Given the description of an element on the screen output the (x, y) to click on. 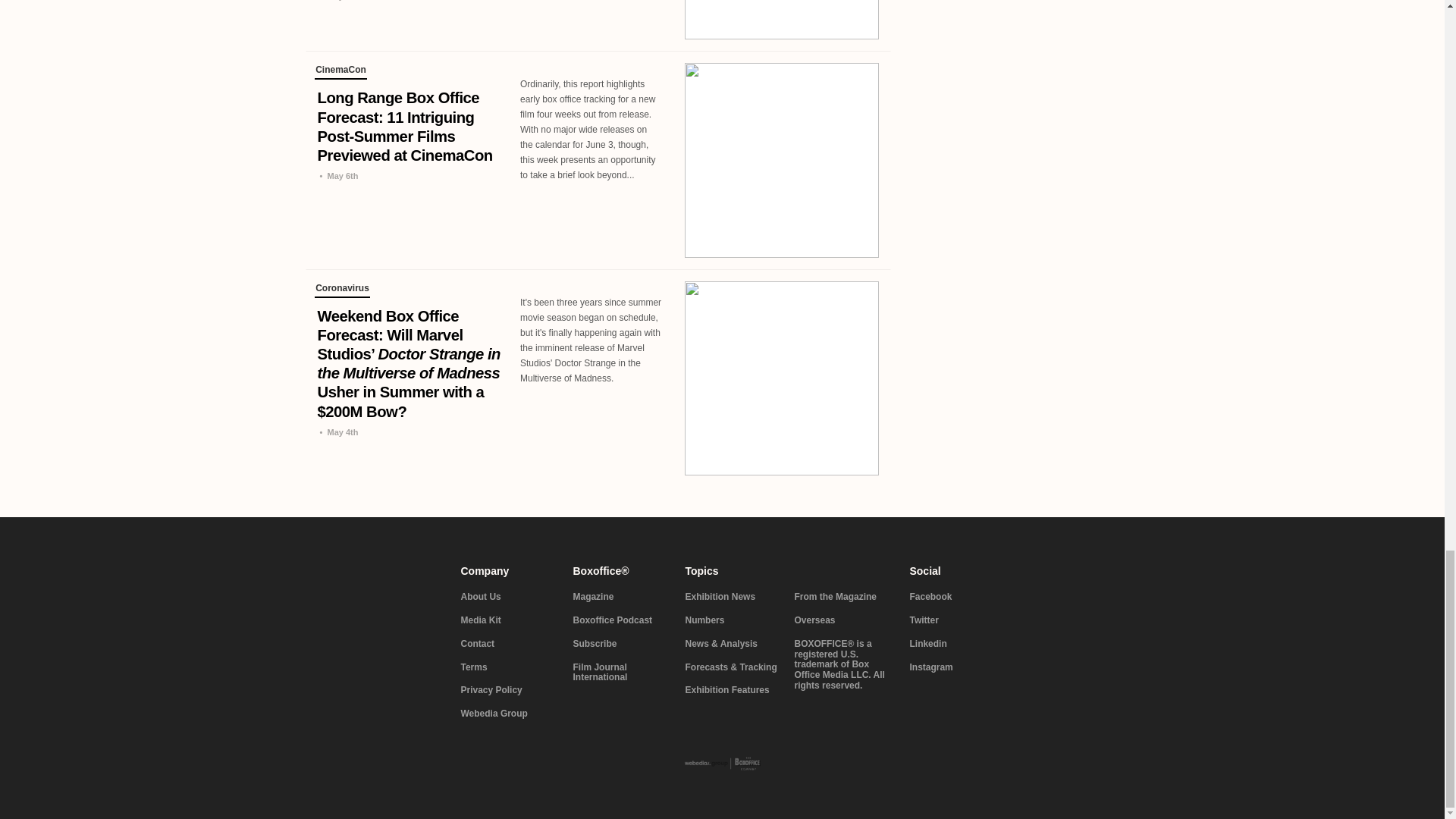
About Us (508, 597)
Contact (508, 644)
Terms (508, 667)
Coronavirus (341, 290)
Privacy Policy (508, 690)
CinemaCon (340, 71)
Webedia Group (508, 714)
Media Kit (508, 620)
Company (508, 571)
